Given the description of an element on the screen output the (x, y) to click on. 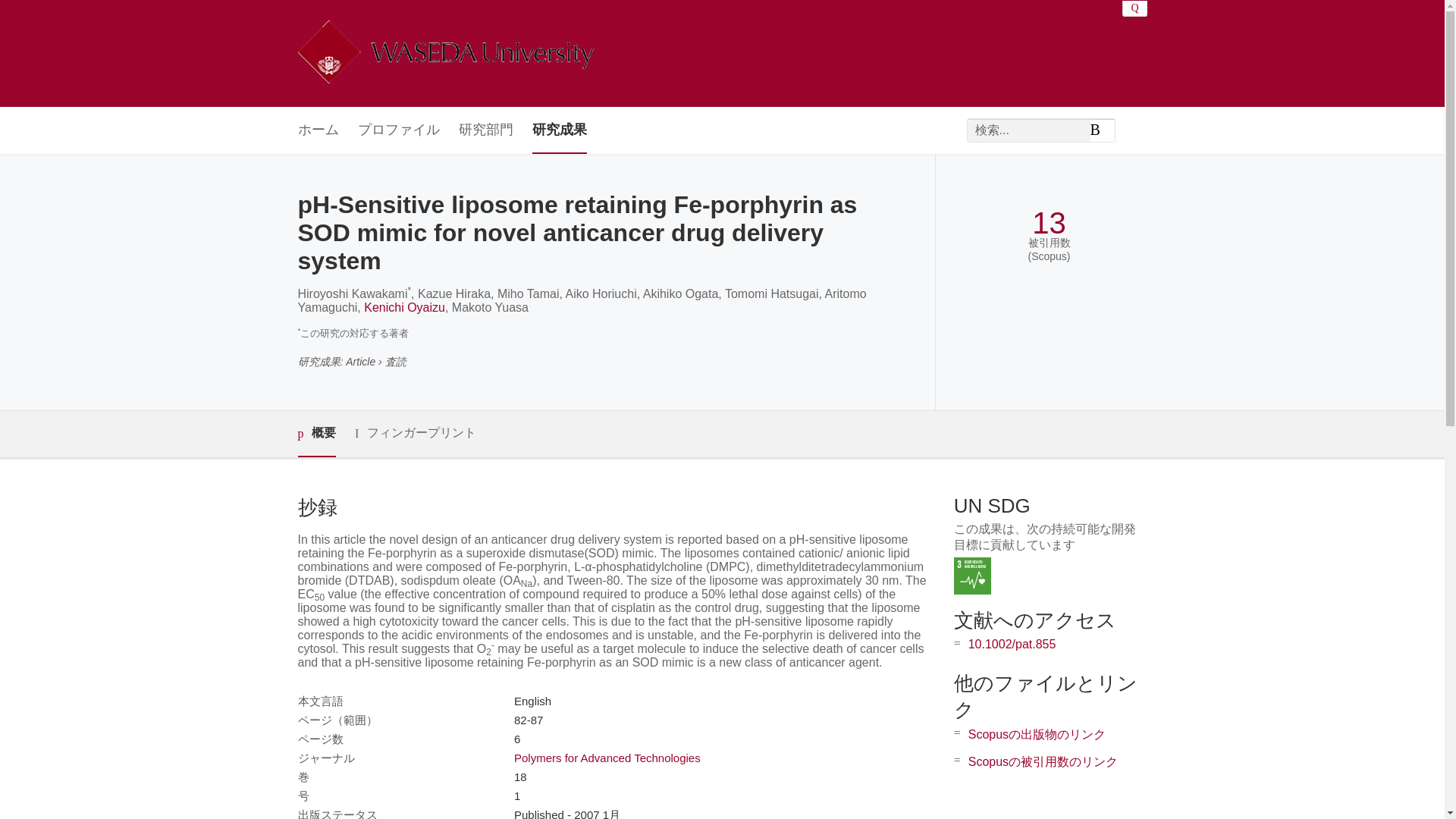
Polymers for Advanced Technologies (606, 757)
13 (1048, 222)
Kenichi Oyaizu (404, 307)
